Given the description of an element on the screen output the (x, y) to click on. 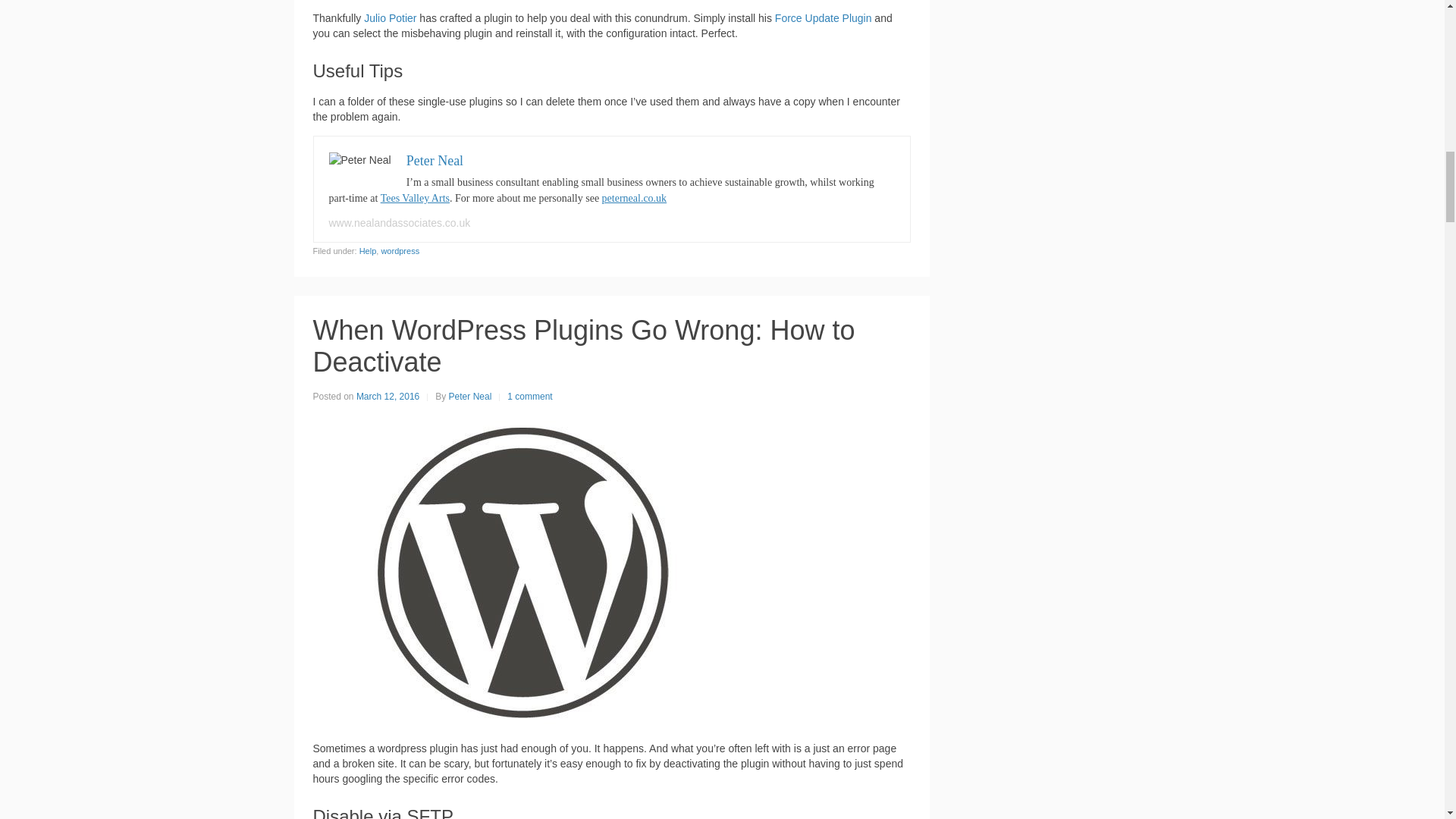
When WordPress Plugins Go Wrong: How to Deactivate (583, 345)
www.nealandassociates.co.uk (399, 223)
peterneal.co.uk (634, 197)
When WordPress Plugins Go Wrong: How to Deactivate (517, 571)
wordpress (399, 250)
Julio Potier (390, 18)
Peter Neal (470, 396)
Peter Neal (434, 160)
When WordPress Plugins Go Wrong: How to Deactivate (583, 345)
1 comment (528, 396)
